Given the description of an element on the screen output the (x, y) to click on. 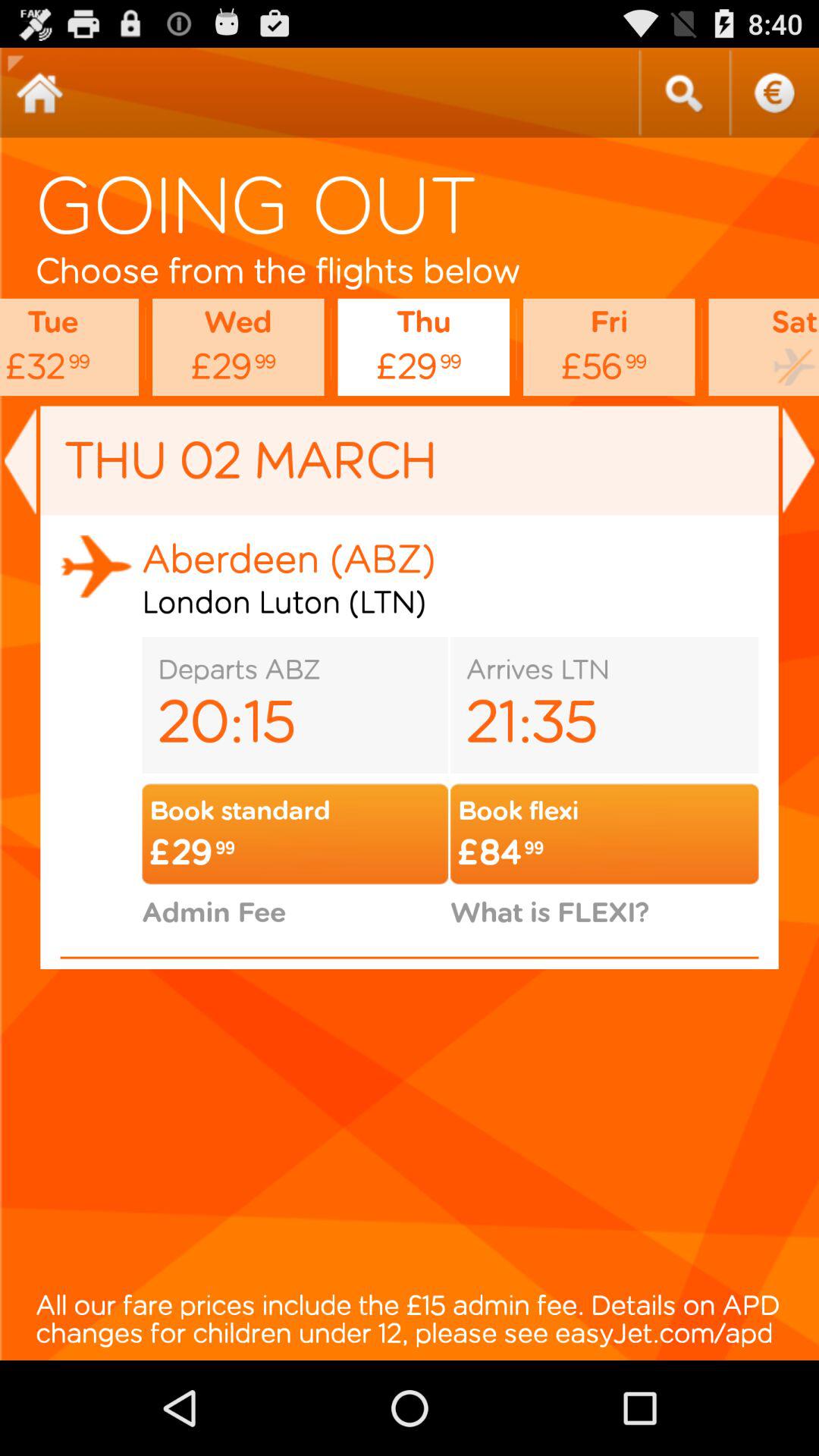
searh (683, 92)
